Given the description of an element on the screen output the (x, y) to click on. 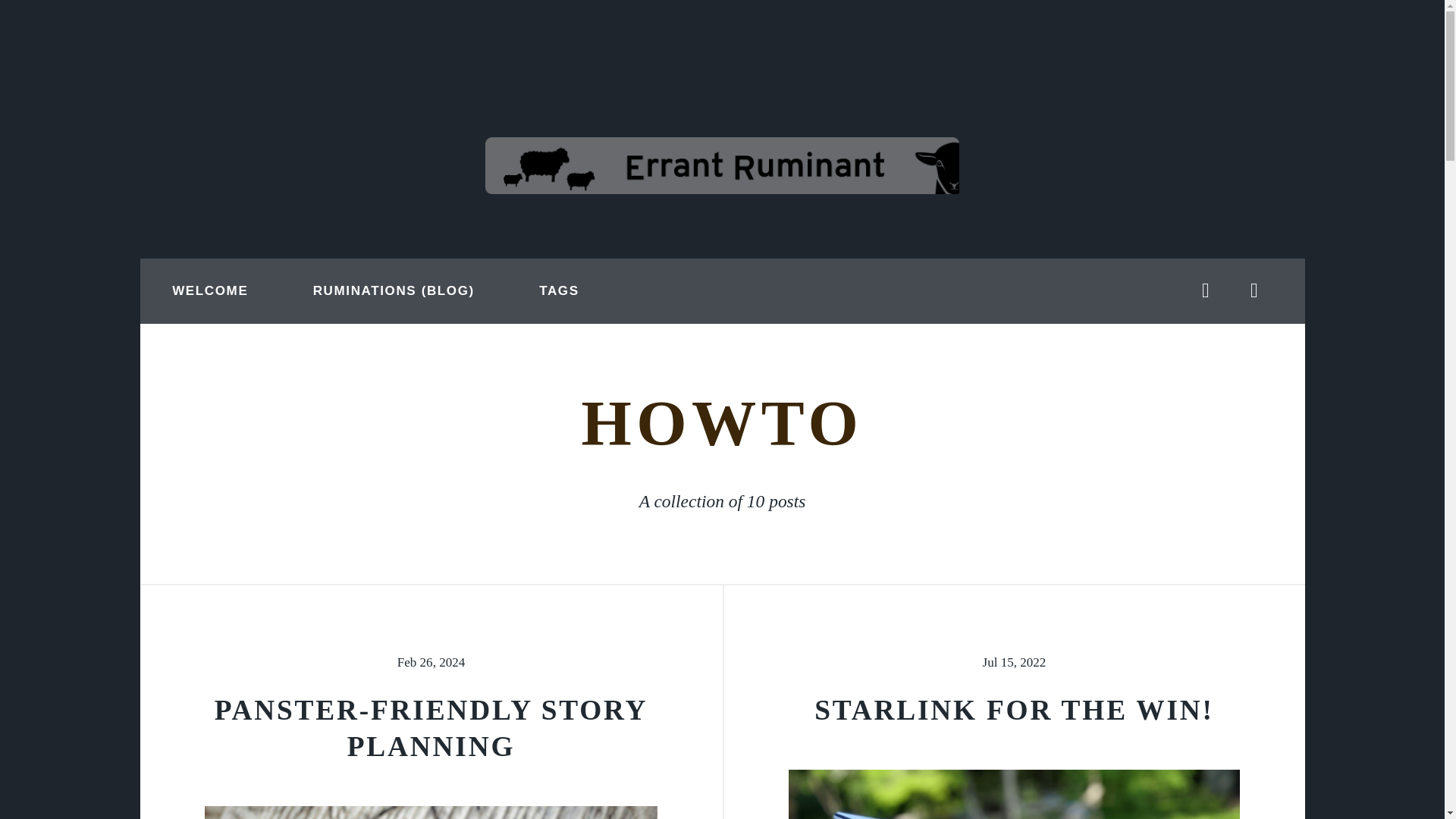
STARLINK FOR THE WIN! (1013, 709)
TAGS (558, 290)
Twitter (1206, 291)
PANSTER-FRIENDLY STORY PLANNING (430, 728)
WELCOME (210, 290)
HOWTO (721, 422)
